Given the description of an element on the screen output the (x, y) to click on. 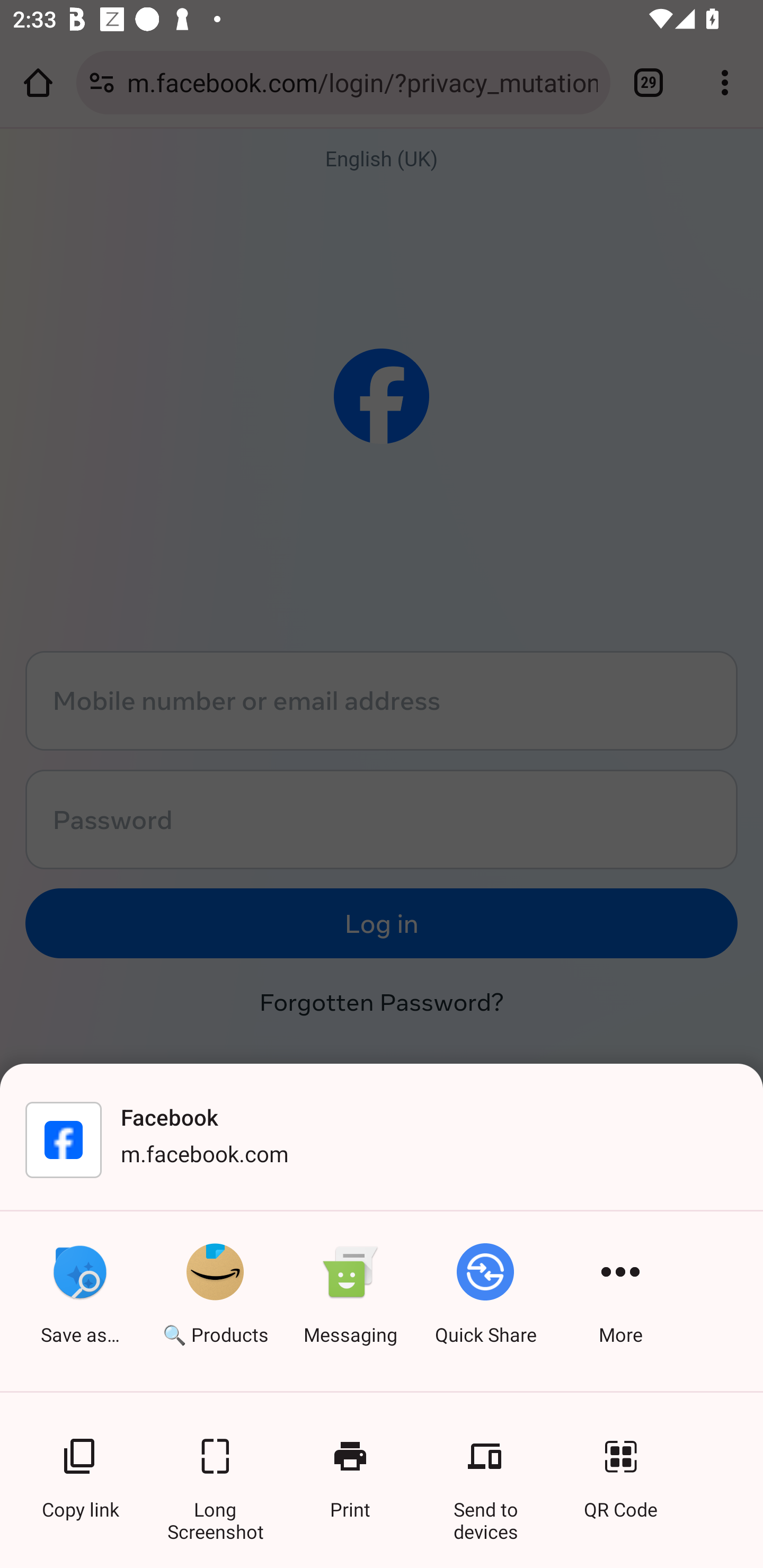
Save as… (80, 1301)
🔍 Products (215, 1301)
Messaging (350, 1301)
Quick Share (485, 1301)
More (620, 1301)
Copy link (80, 1468)
Long Screenshot (215, 1468)
Print (350, 1468)
Send to devices (485, 1468)
QR Code (620, 1468)
